Given the description of an element on the screen output the (x, y) to click on. 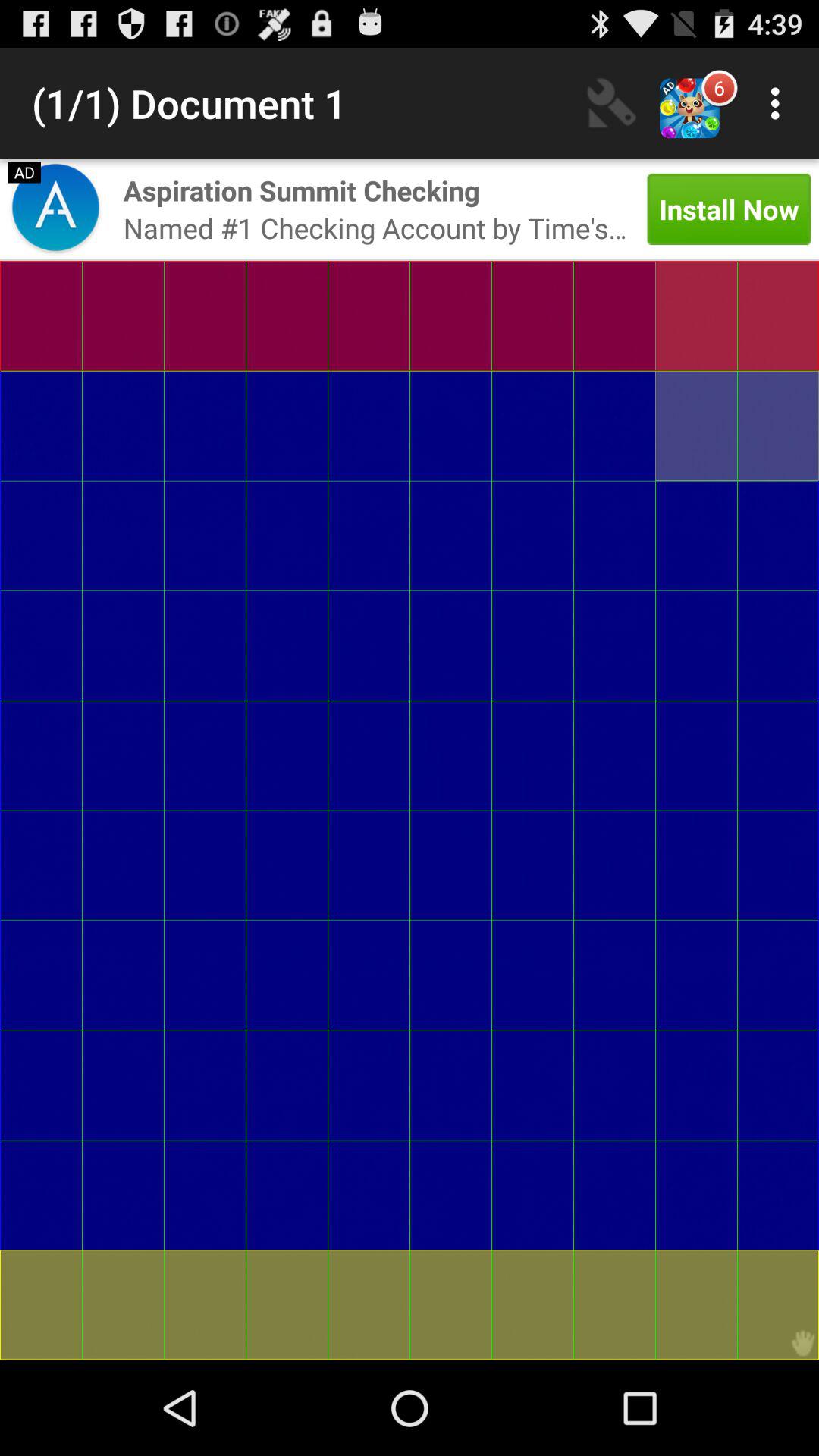
turn on item to the left of the aspiration summit checking item (55, 209)
